Given the description of an element on the screen output the (x, y) to click on. 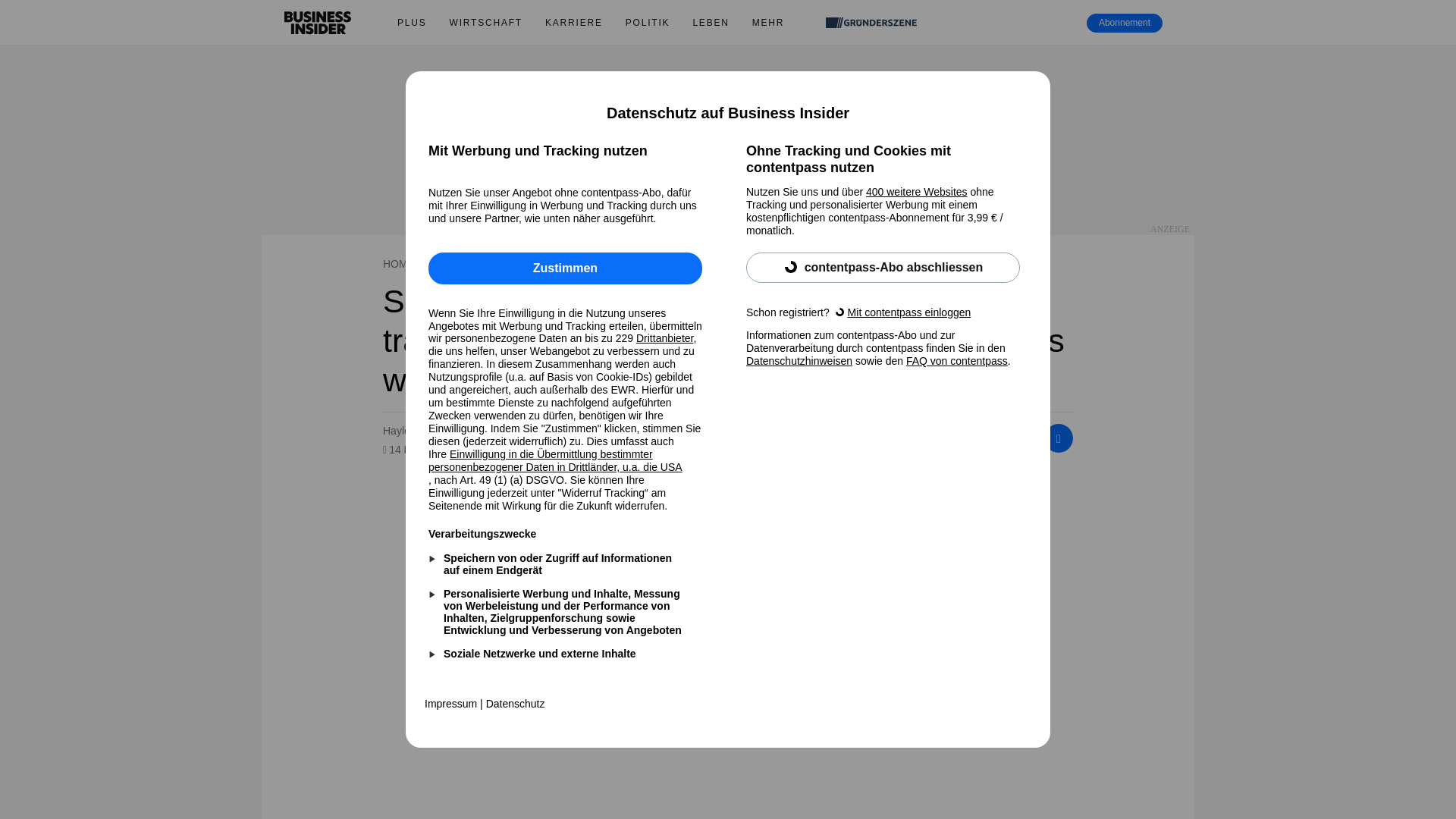
LEBEN (710, 22)
KARRIERE (574, 22)
WIRTSCHAFT (486, 22)
PLUS (411, 22)
POLITIK (647, 22)
